Given the description of an element on the screen output the (x, y) to click on. 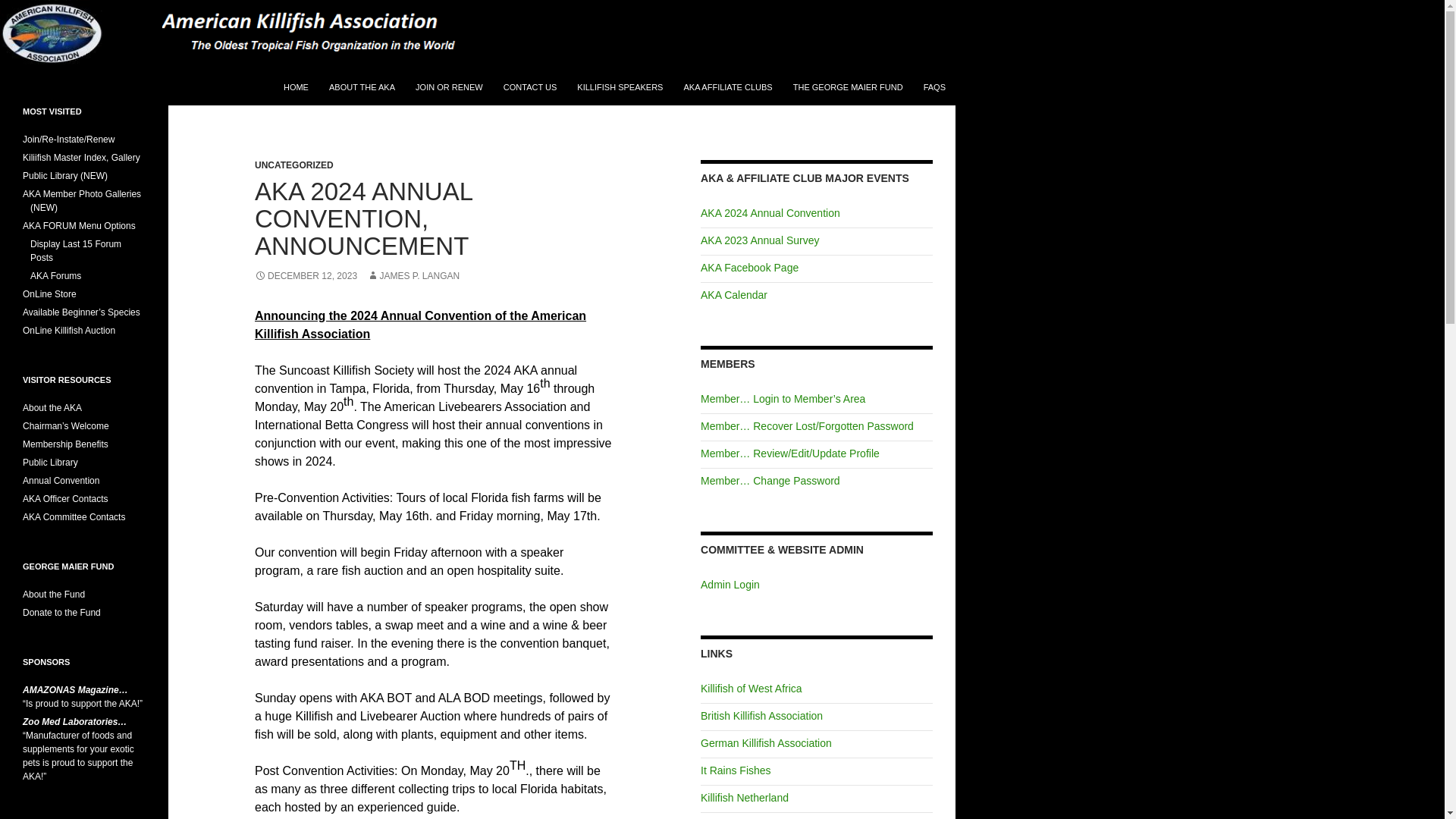
AKA Calendar (733, 295)
DECEMBER 12, 2023 (305, 276)
American Killifish Association (120, 86)
FAQS (934, 86)
JAMES P. LANGAN (413, 276)
AKA 2023 Annual Survey (759, 240)
HOME (296, 86)
KILLIFISH SPEAKERS (619, 86)
AKA Facebook Page (748, 267)
